Given the description of an element on the screen output the (x, y) to click on. 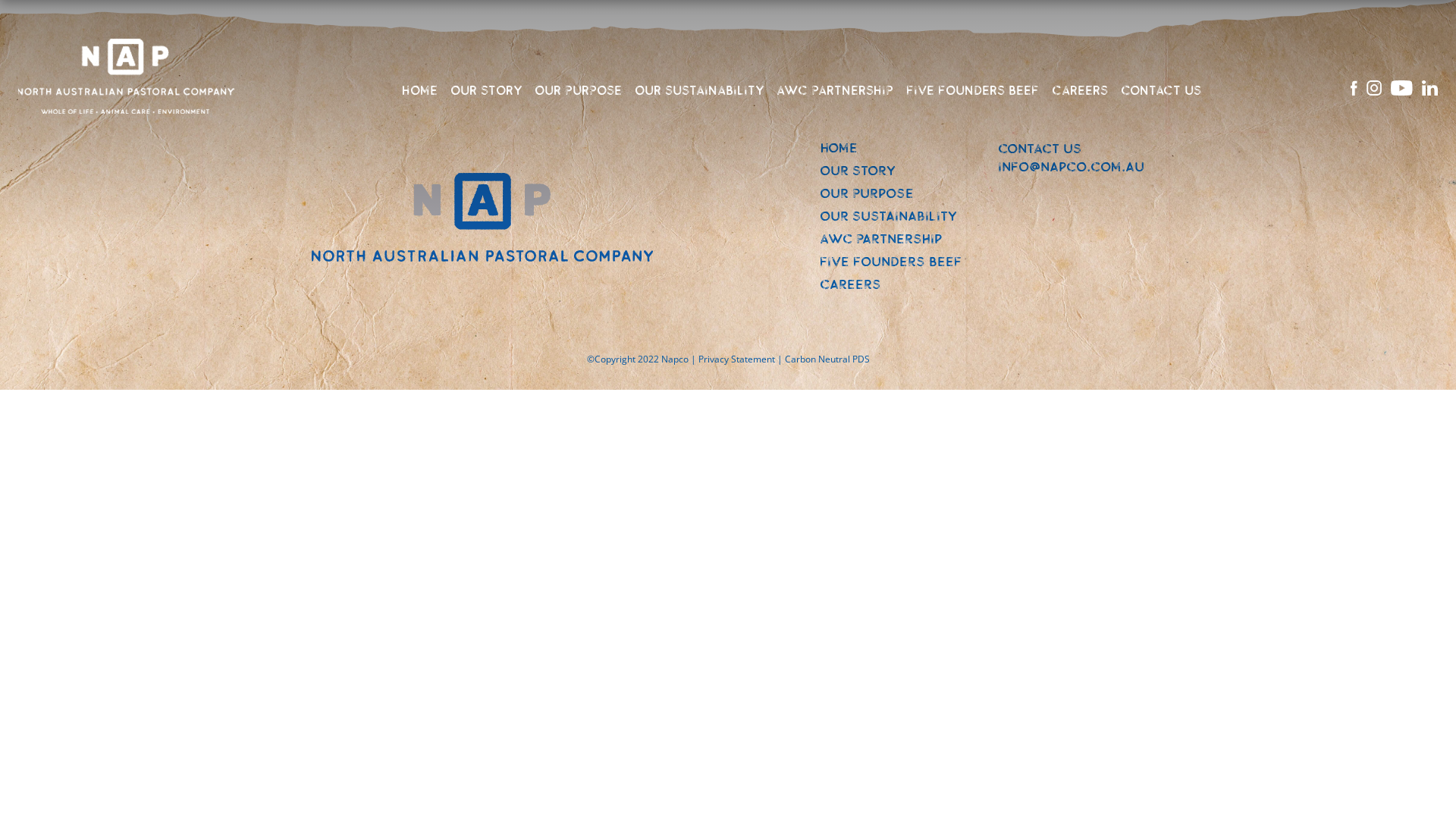
AWC Partnership Element type: text (880, 238)
info@napco.com.au Element type: text (1070, 166)
Our Story Element type: text (857, 170)
Careers Element type: text (850, 284)
OUR STORY Element type: text (485, 90)
Our Sustainability Element type: text (888, 215)
FIVE FOUNDERS BEEF Element type: text (972, 90)
OUR SUSTAINABILITY Element type: text (698, 90)
CONTACT US Element type: text (1039, 148)
OUR PURPOSE Element type: text (577, 90)
Five Founders Beef Element type: text (890, 261)
Privacy Statement Element type: text (735, 358)
Home Element type: text (838, 147)
HOME Element type: text (419, 90)
AWC PARTNERSHIP Element type: text (834, 90)
Carbon Neutral PDS Element type: text (826, 358)
CAREERS Element type: text (1079, 90)
Our Purpose Element type: text (866, 193)
CONTACT US Element type: text (1160, 90)
